Given the description of an element on the screen output the (x, y) to click on. 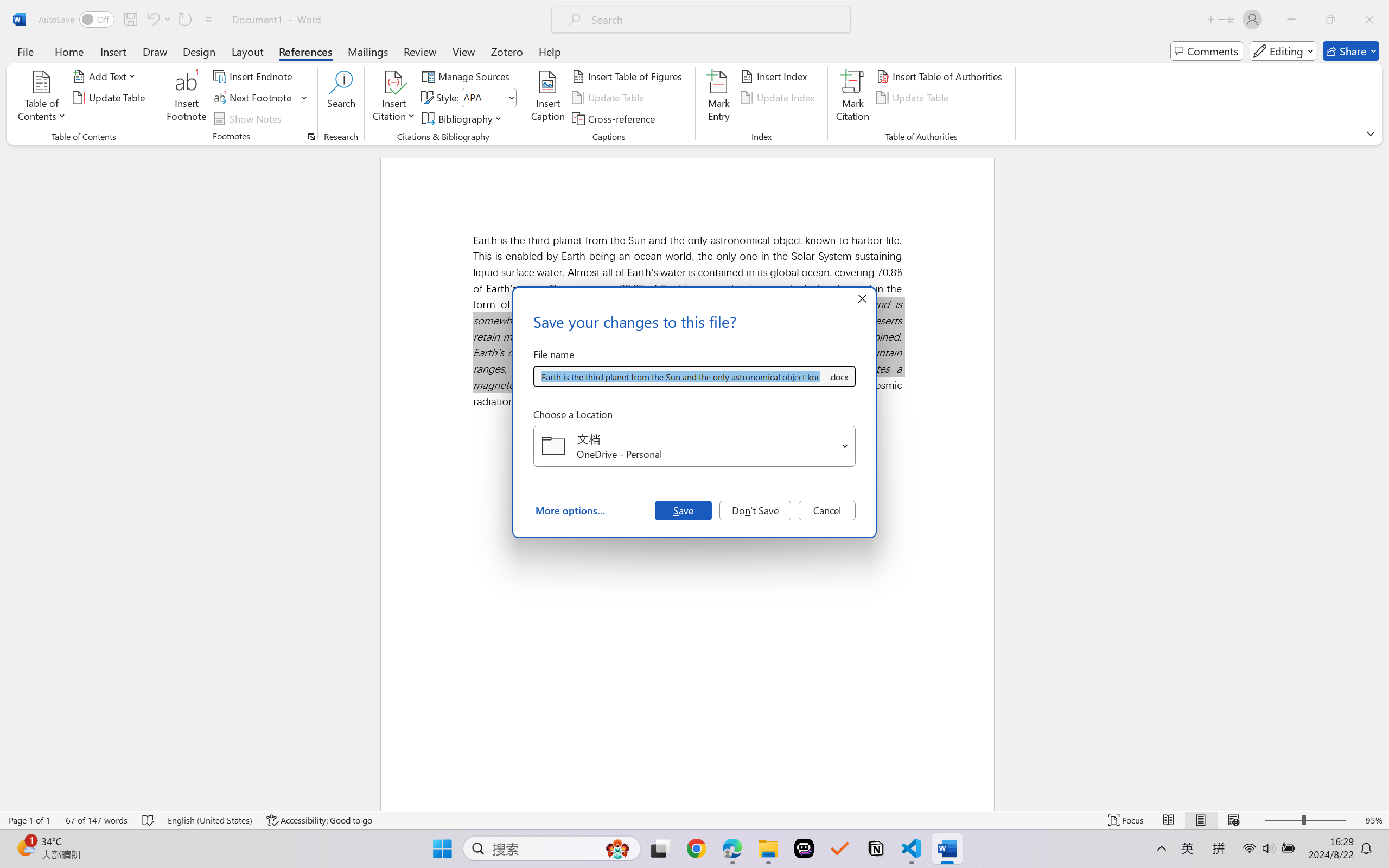
Footnote and Endnote Dialog... (311, 136)
Mark Citation... (852, 97)
Next Footnote (260, 97)
Help (549, 51)
Add Text (106, 75)
